Given the description of an element on the screen output the (x, y) to click on. 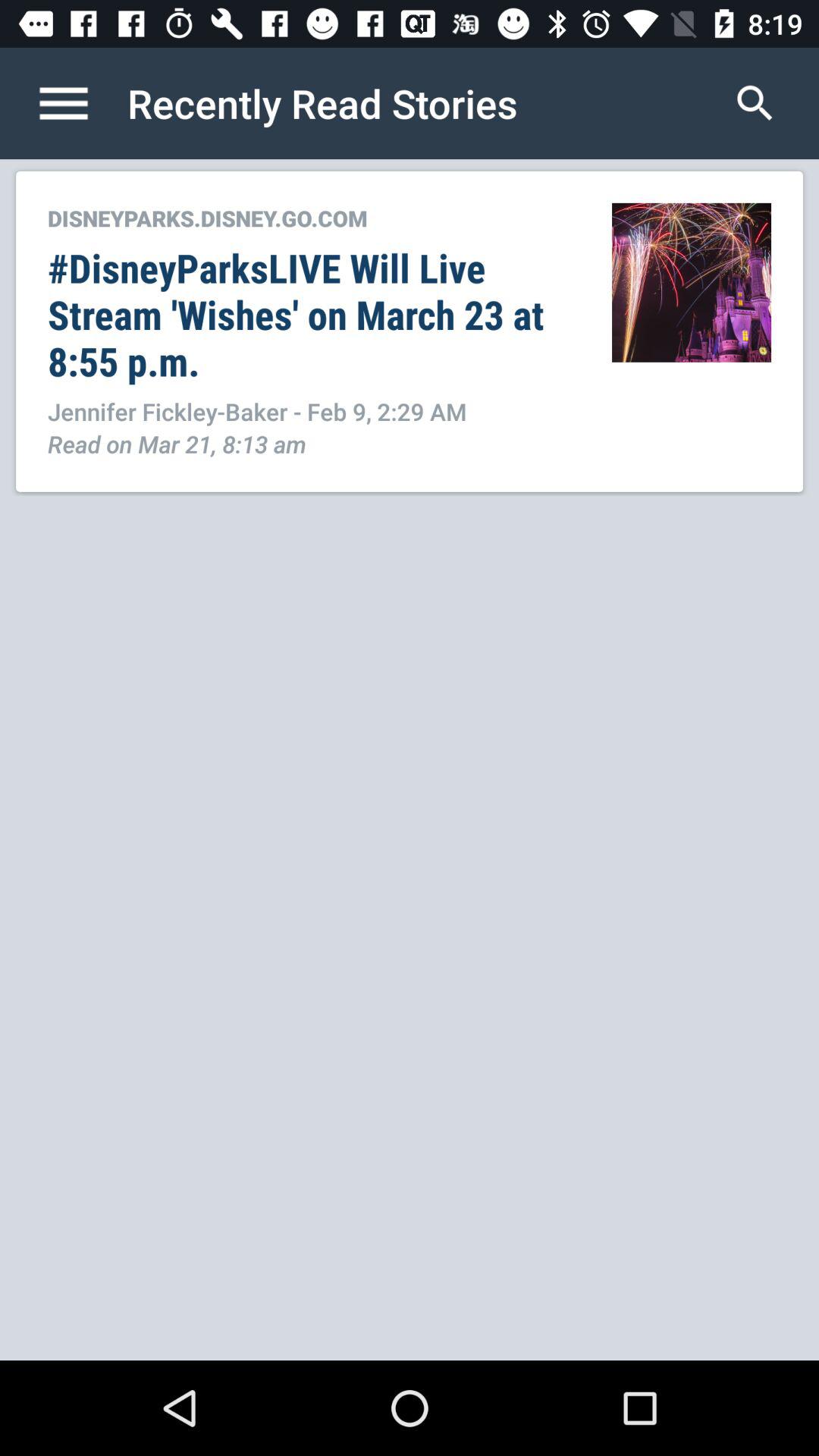
open the icon above disneyparks disney go (79, 103)
